Given the description of an element on the screen output the (x, y) to click on. 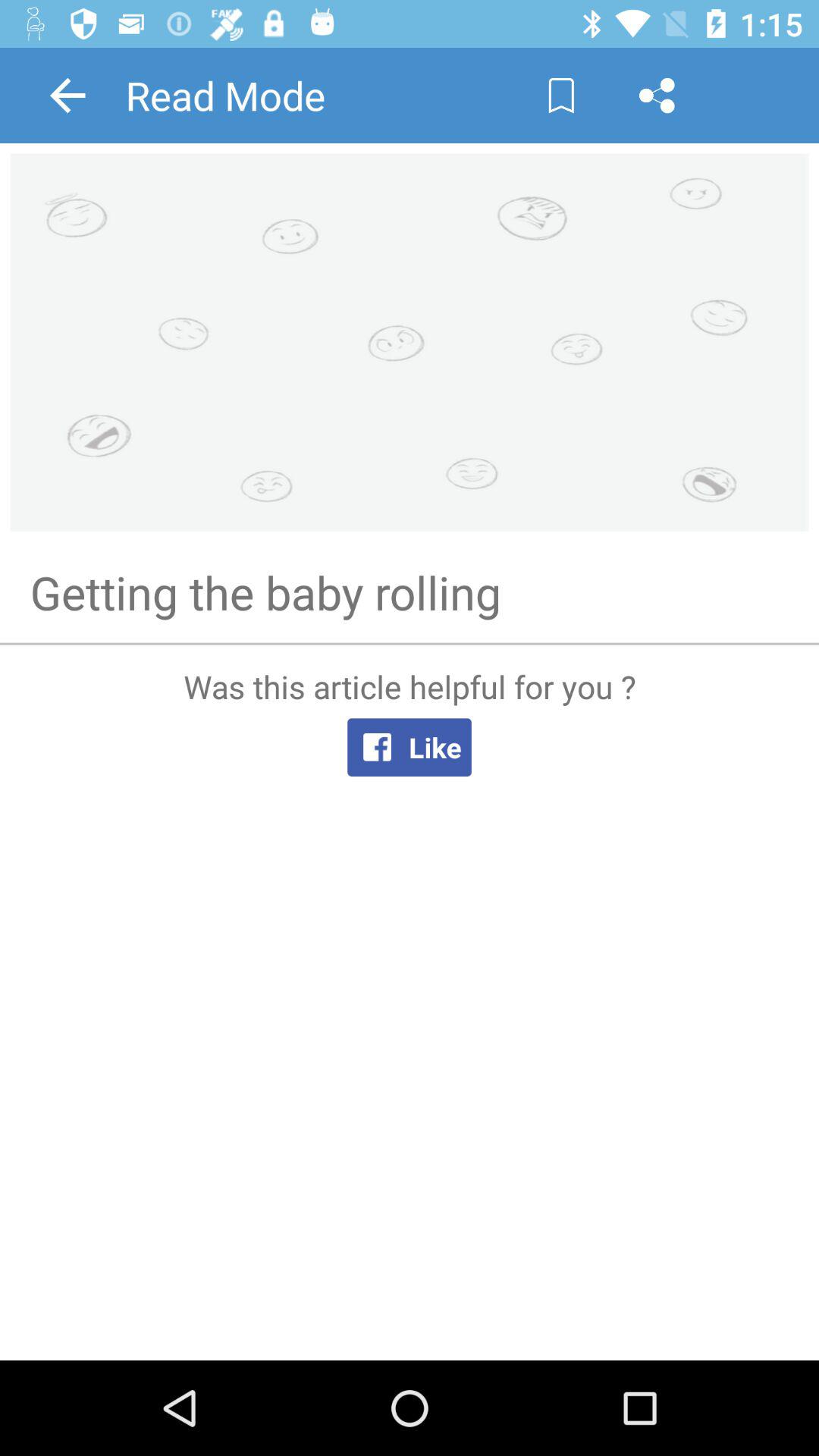
go back (67, 95)
